Given the description of an element on the screen output the (x, y) to click on. 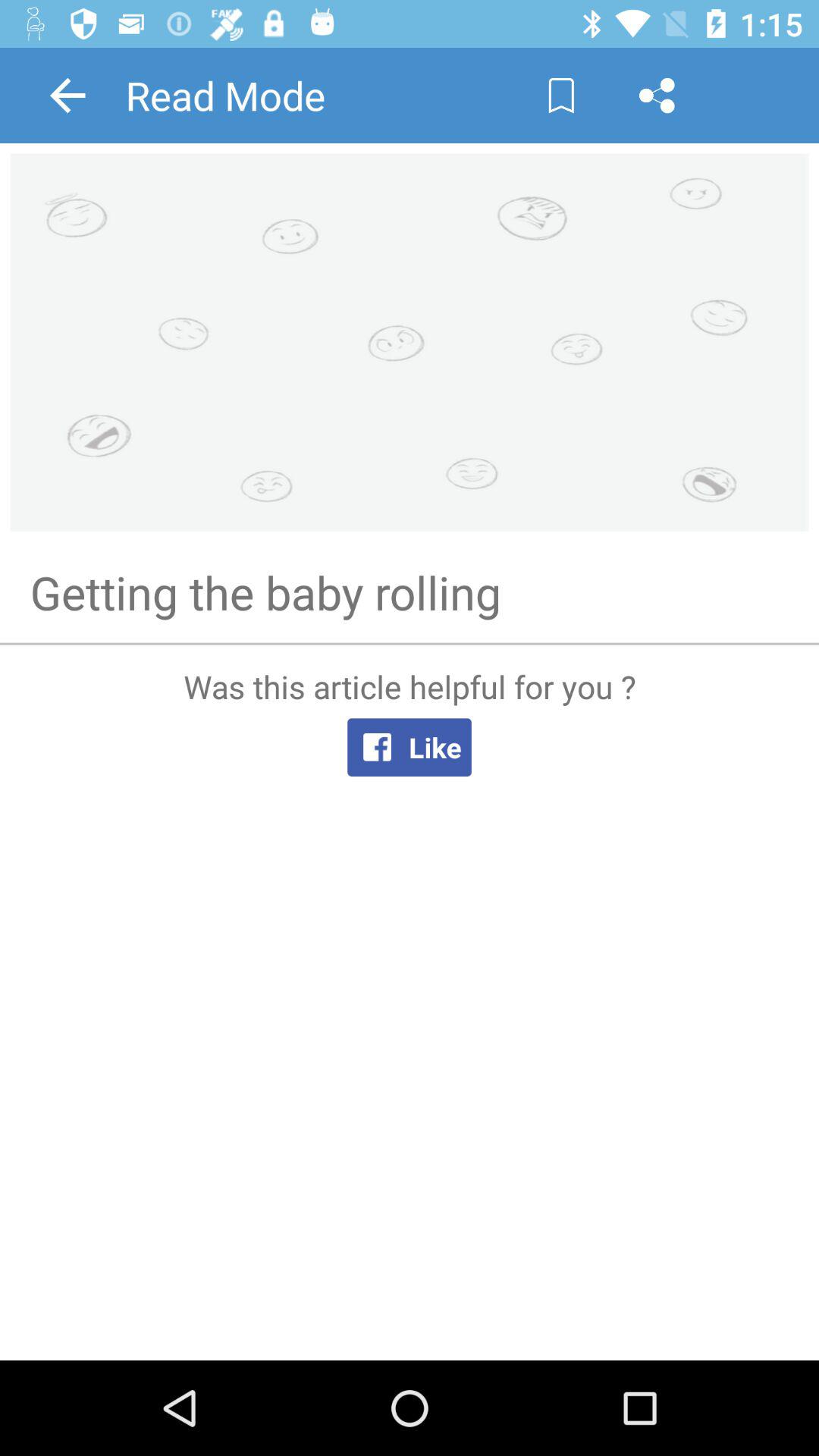
go back (67, 95)
